Given the description of an element on the screen output the (x, y) to click on. 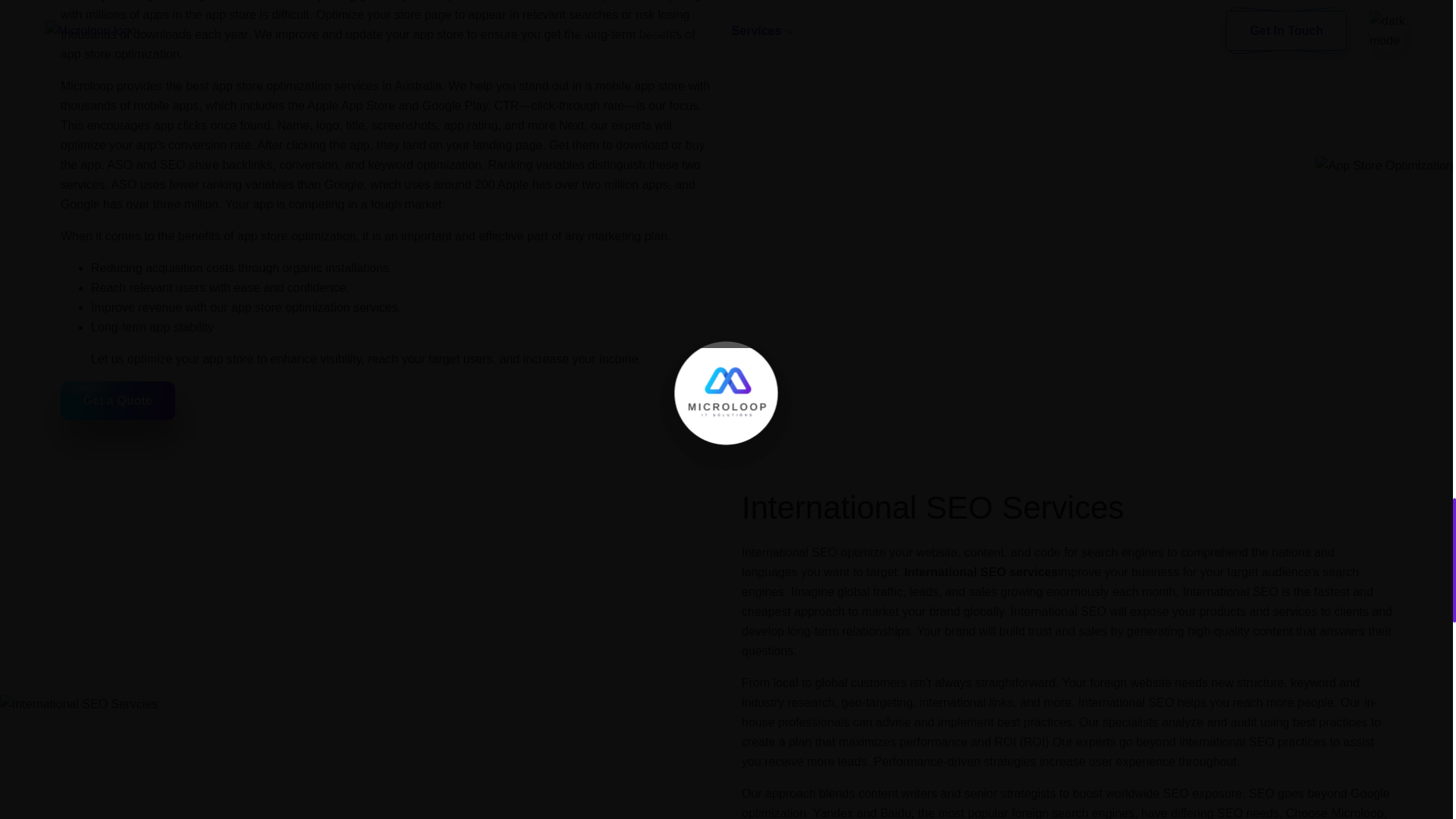
Get a Quote (117, 400)
